Given the description of an element on the screen output the (x, y) to click on. 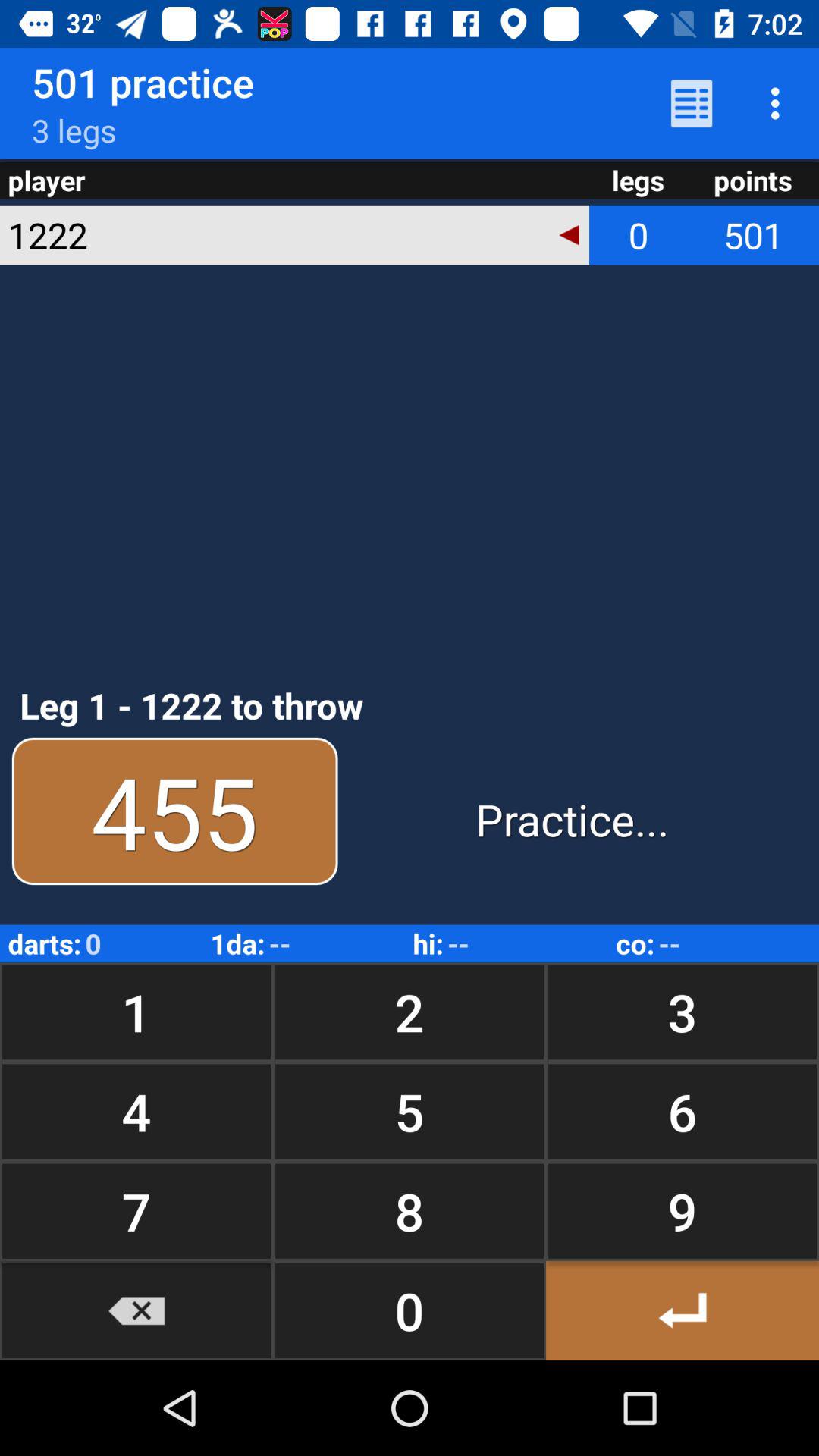
turn on the icon next to the 2 icon (682, 1111)
